Given the description of an element on the screen output the (x, y) to click on. 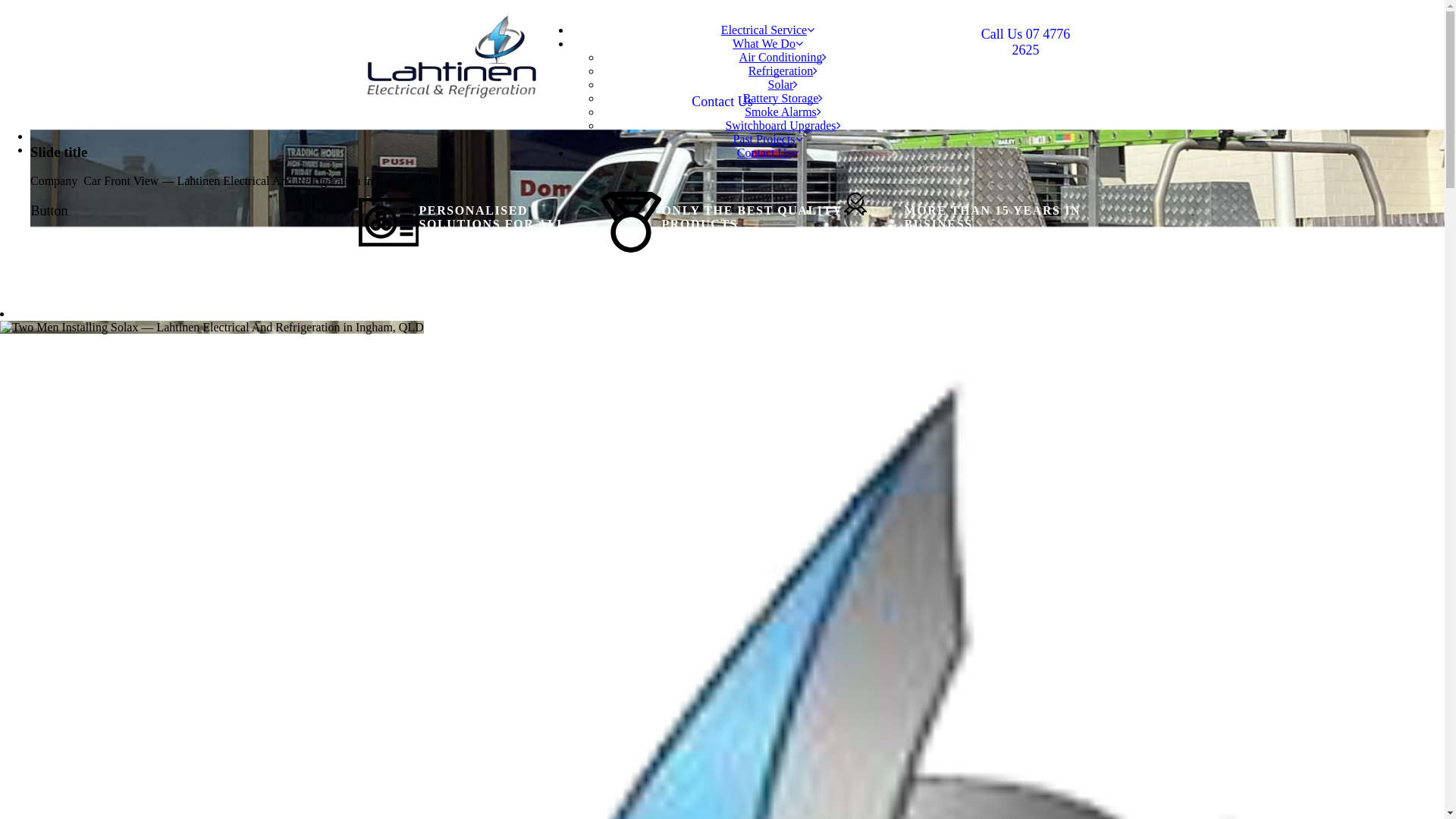
Past Projects Element type: text (767, 138)
What We Do Element type: text (767, 43)
Solar Element type: text (783, 84)
Previous Element type: text (51, 135)
Battery Storage Element type: text (783, 97)
Switchboard Upgrades Element type: text (782, 125)
Contact Us Element type: text (768, 152)
Refrigeration Element type: text (782, 70)
Call Us 07 4776 2625 Element type: text (1024, 41)
Air Conditioning Element type: text (783, 56)
Contact Us Element type: text (722, 101)
Electrical Service Element type: text (767, 29)
Next Element type: text (41, 149)
Smoke Alarms Element type: text (782, 111)
